Given the description of an element on the screen output the (x, y) to click on. 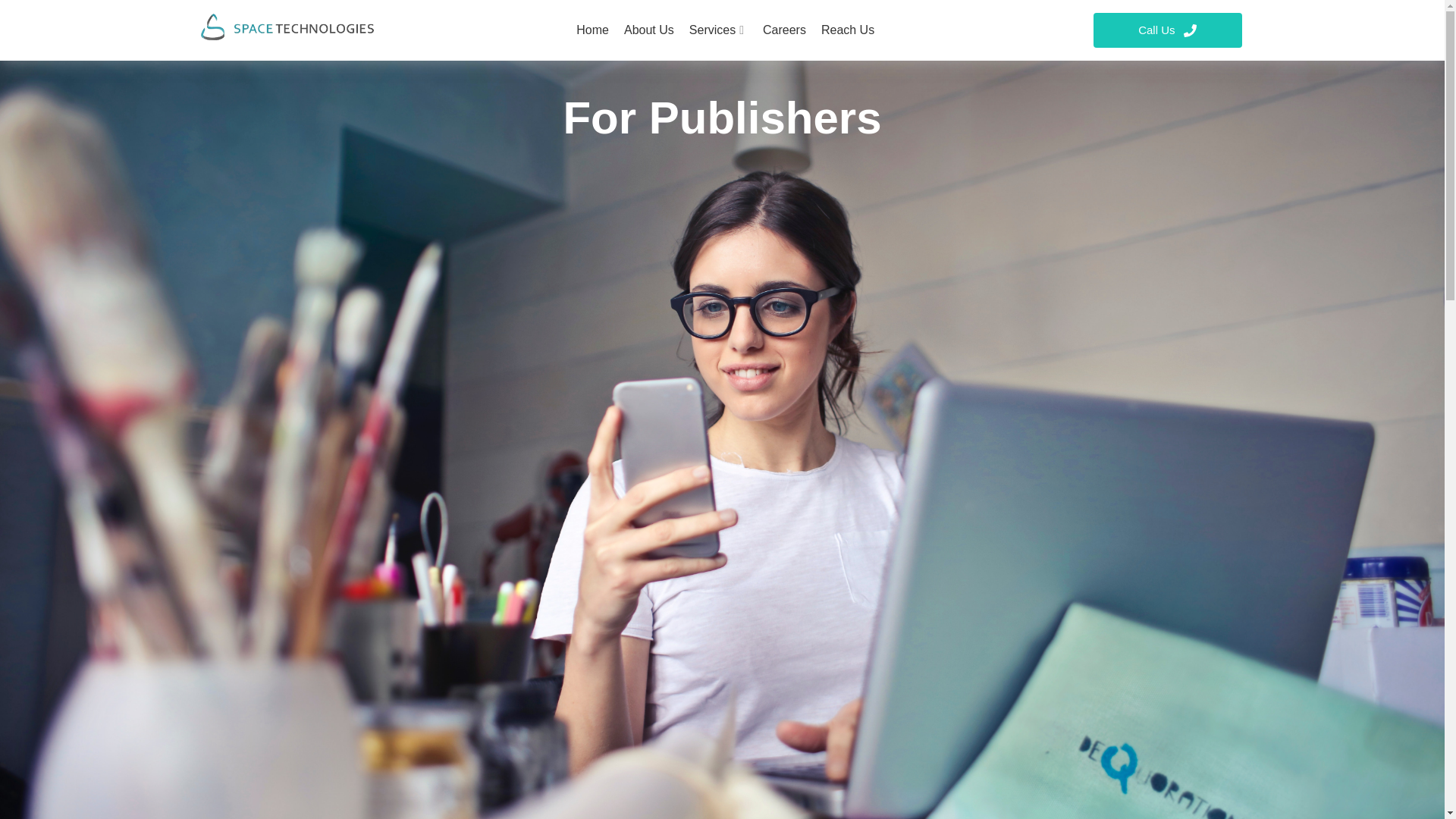
Home (592, 30)
Services (718, 30)
Careers (784, 30)
About Us (648, 30)
Reach Us (847, 30)
Call Us (1167, 30)
